Given the description of an element on the screen output the (x, y) to click on. 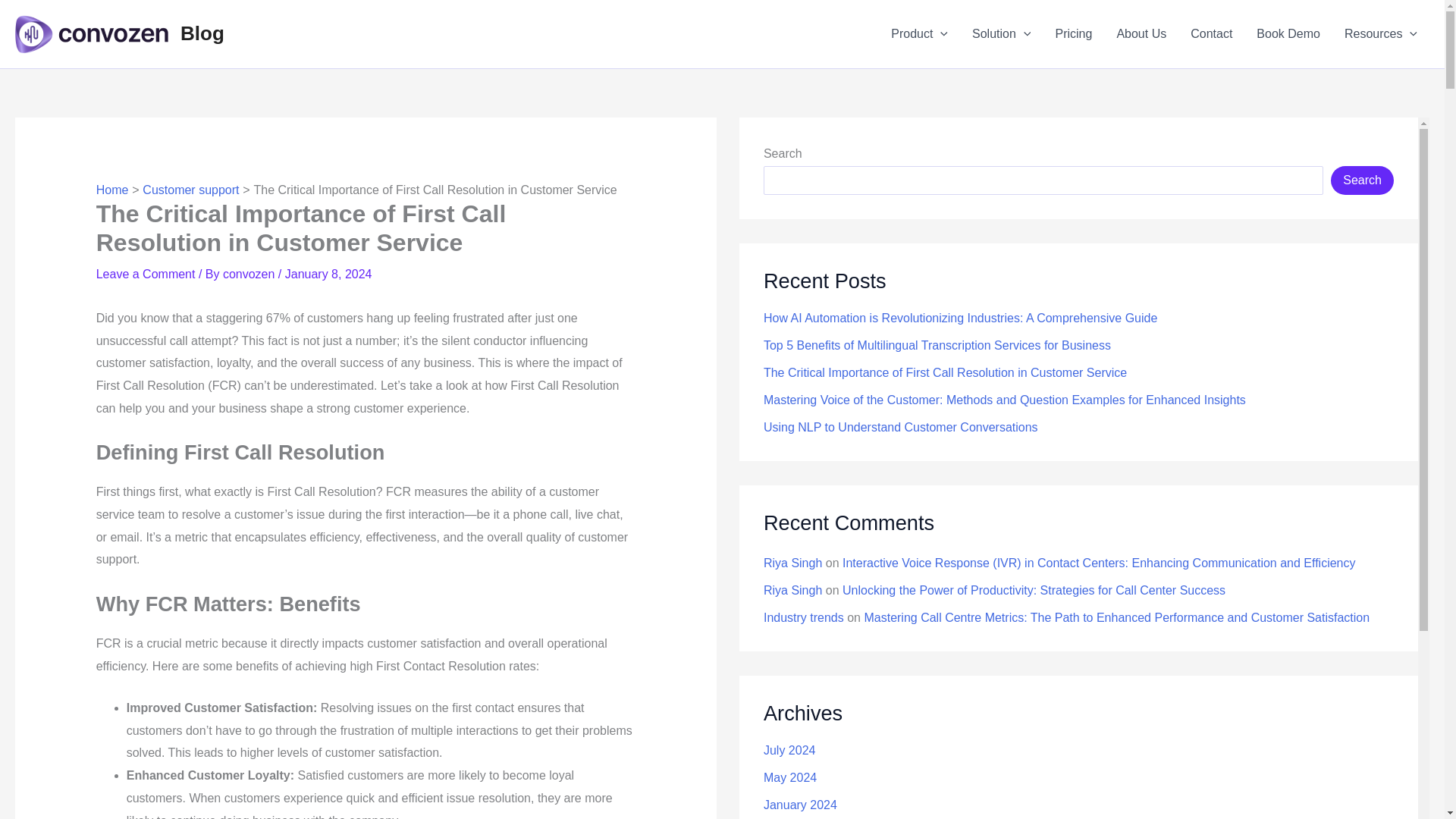
Solution (1000, 34)
convozen (250, 273)
Product (919, 34)
Blog (202, 33)
Contact (1210, 34)
Home (112, 189)
Book Demo (1288, 34)
About Us (1140, 34)
Resources (1380, 34)
Customer support (190, 189)
Leave a Comment (145, 273)
View all posts by convozen (250, 273)
Pricing (1072, 34)
